Given the description of an element on the screen output the (x, y) to click on. 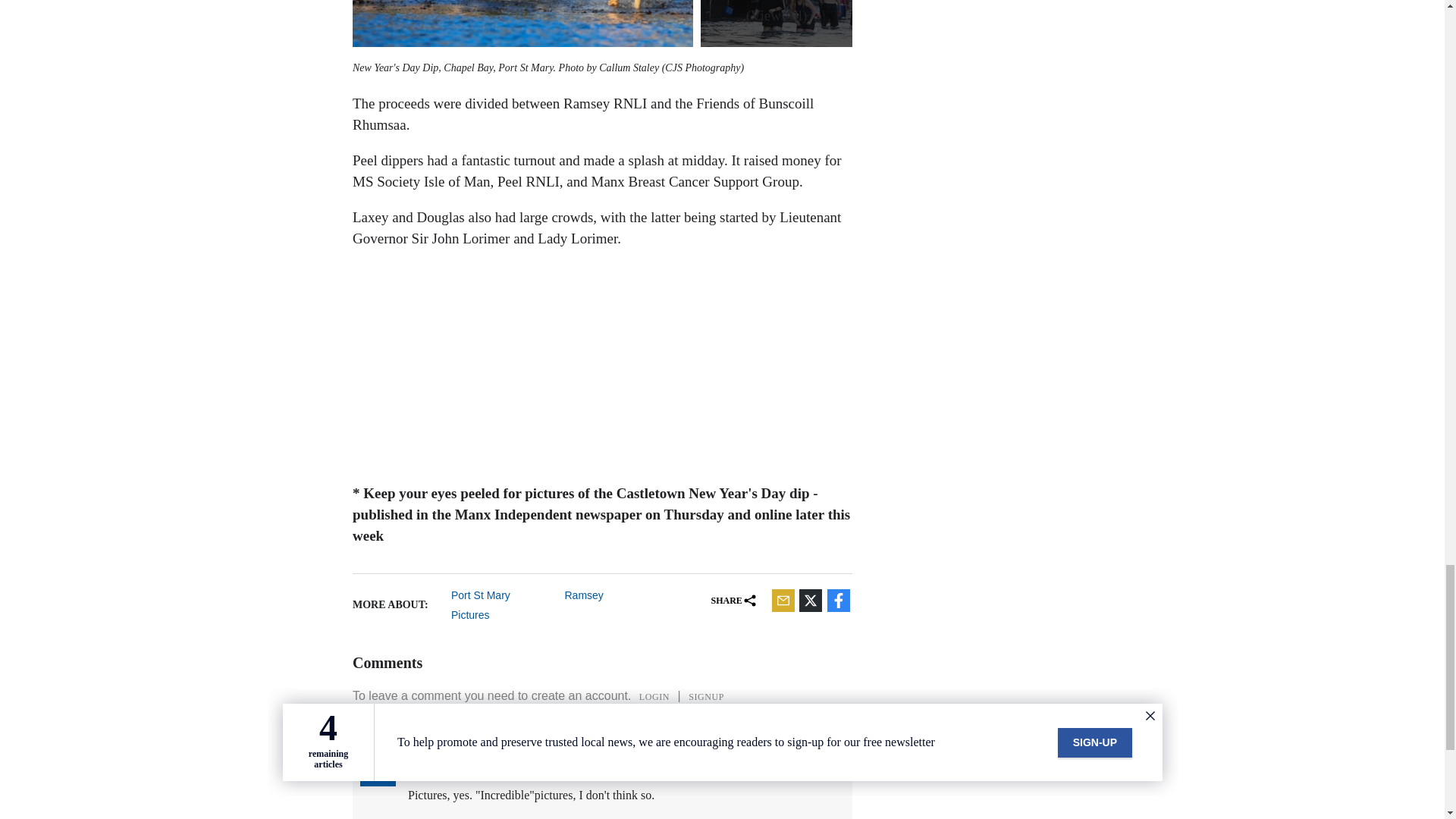
Pictures (502, 614)
Port St Mary (502, 594)
Ramsey (615, 594)
